Given the description of an element on the screen output the (x, y) to click on. 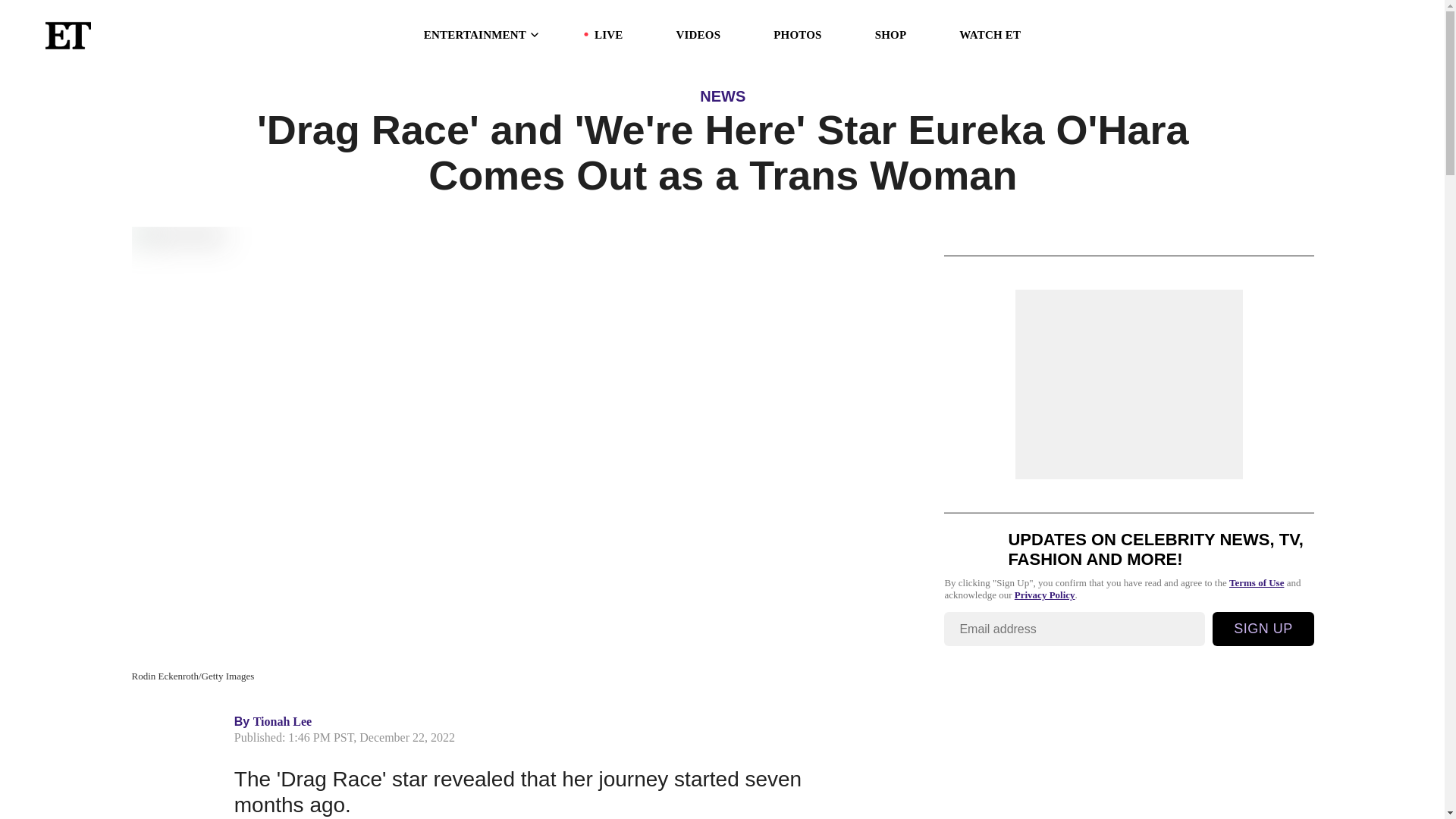
ENTERTAINMENT (482, 34)
Tionah Lee (283, 721)
WATCH ET (989, 34)
NEWS (722, 95)
SIGN UP (1263, 628)
SHOP (891, 34)
VIDEOS (697, 34)
PHOTOS (797, 34)
LIVE (608, 34)
Terms of Use (1256, 582)
